Given the description of an element on the screen output the (x, y) to click on. 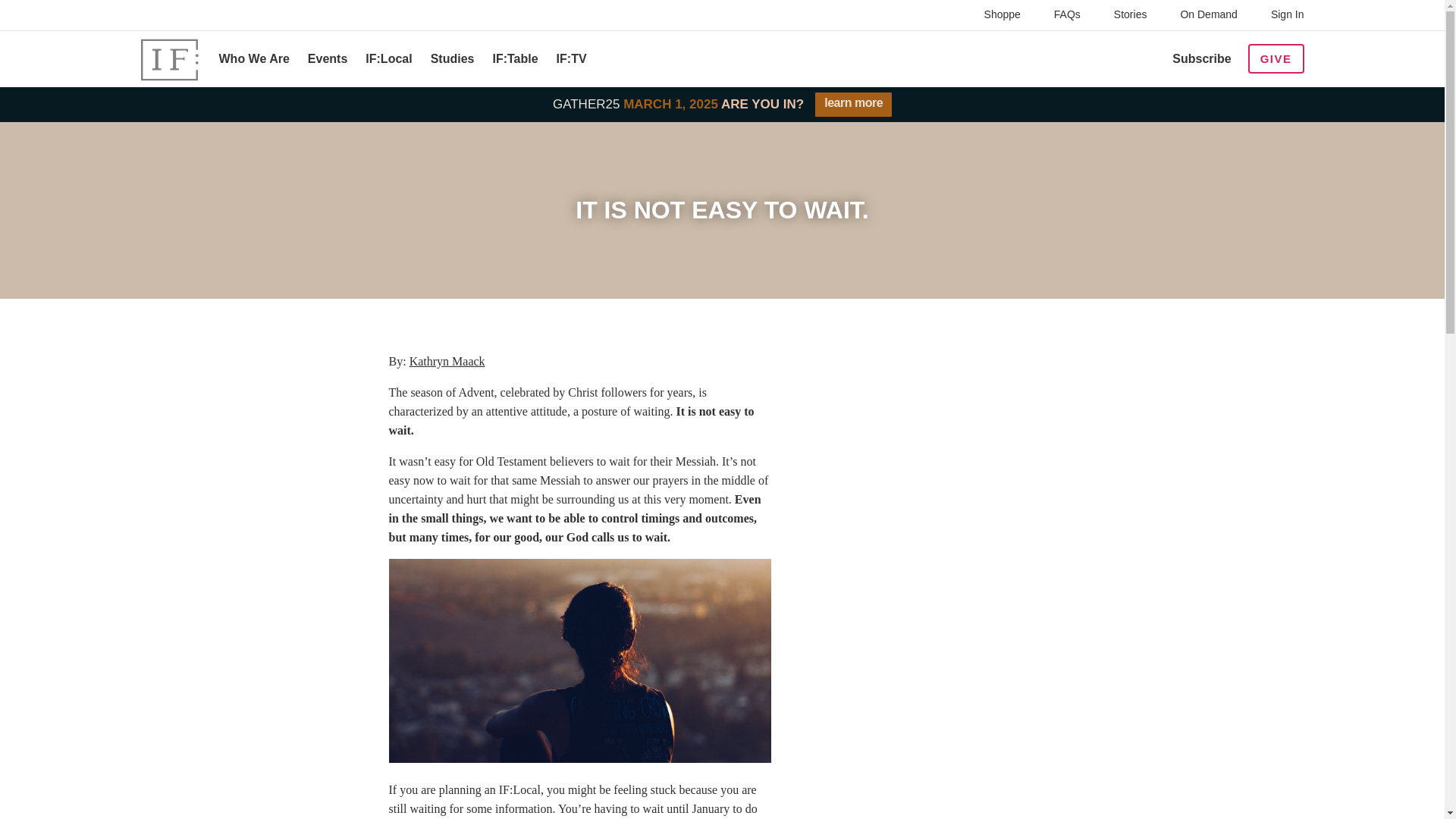
Who We Are (252, 59)
IF:Table (514, 59)
Stories (1130, 15)
Sign In (1284, 15)
learn more (853, 104)
Subscribe (1200, 59)
Studies (452, 59)
IF:TV (571, 59)
GIVE (1275, 58)
IF:Local (388, 59)
FAQs (1067, 15)
Events (327, 59)
On Demand (1208, 15)
Shoppe (1002, 15)
